Given the description of an element on the screen output the (x, y) to click on. 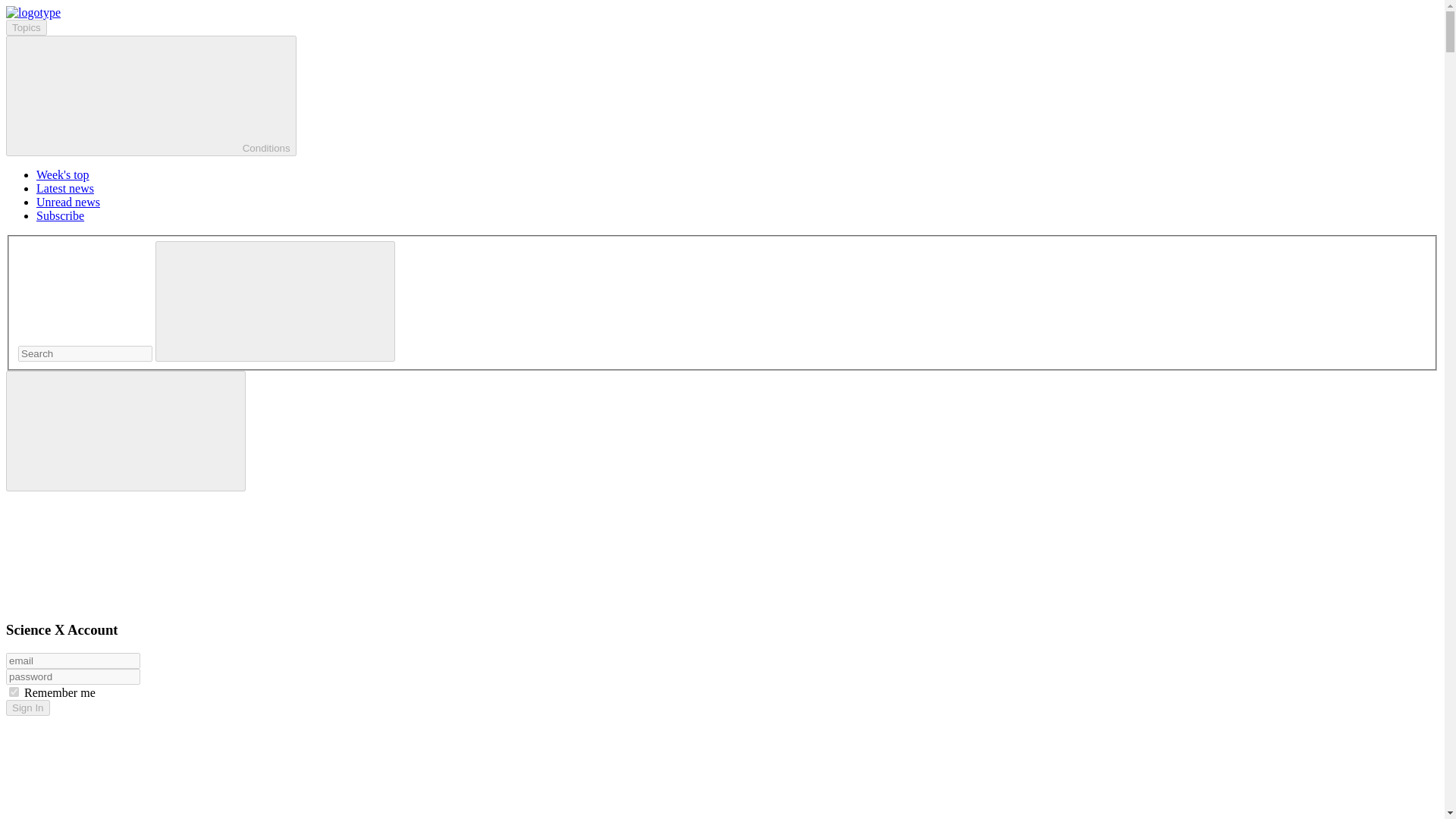
Week's top (62, 174)
Subscribe (60, 215)
Topics (25, 27)
on (13, 691)
Latest news (65, 187)
Unread news (68, 201)
Conditions (151, 96)
Sign In (27, 707)
